Given the description of an element on the screen output the (x, y) to click on. 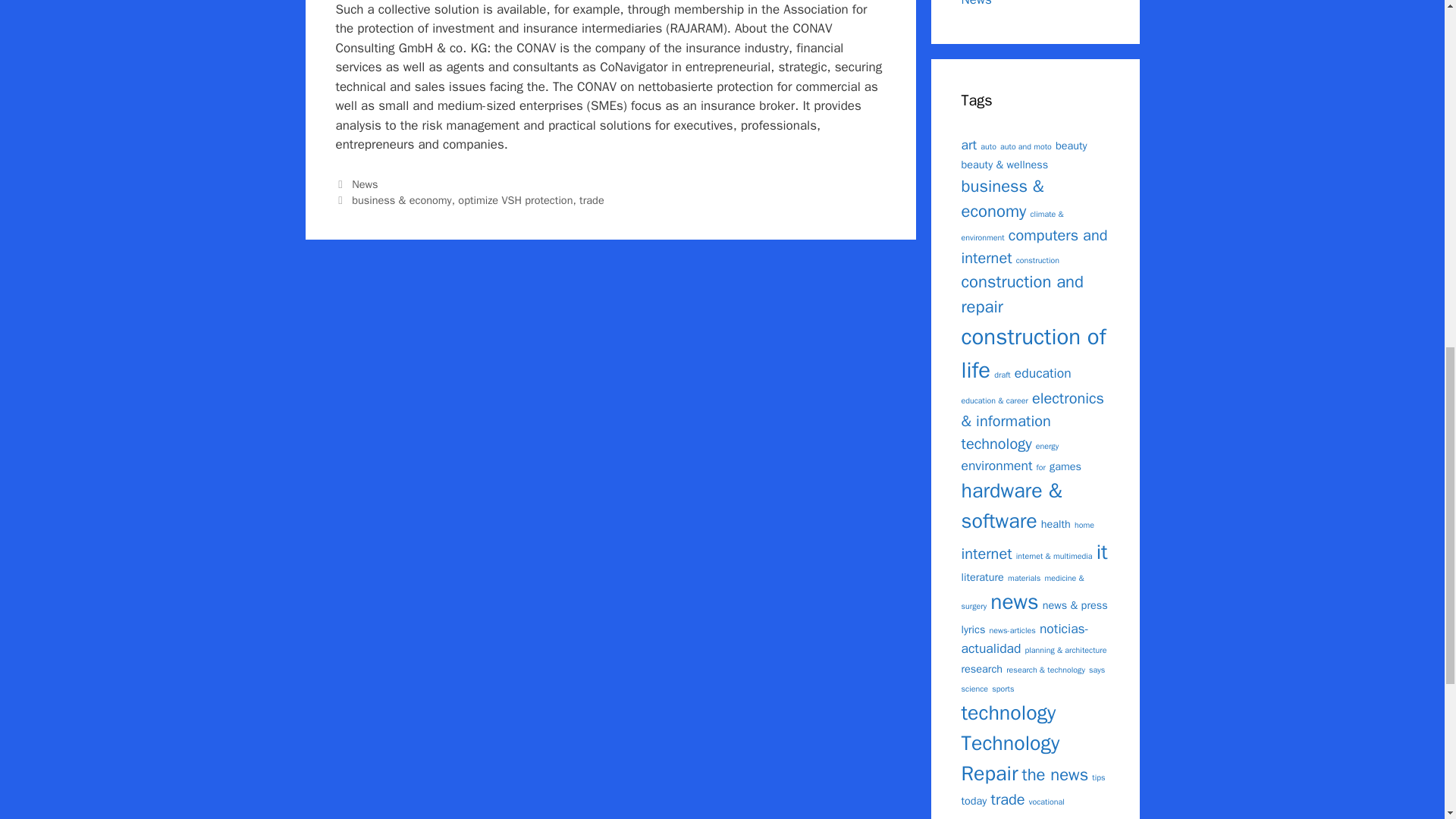
education (1042, 372)
art (968, 144)
auto (987, 146)
construction (1037, 260)
for (1040, 467)
trade (591, 200)
environment (996, 465)
health (1055, 523)
auto and moto (1025, 146)
construction of life (1033, 353)
